Given the description of an element on the screen output the (x, y) to click on. 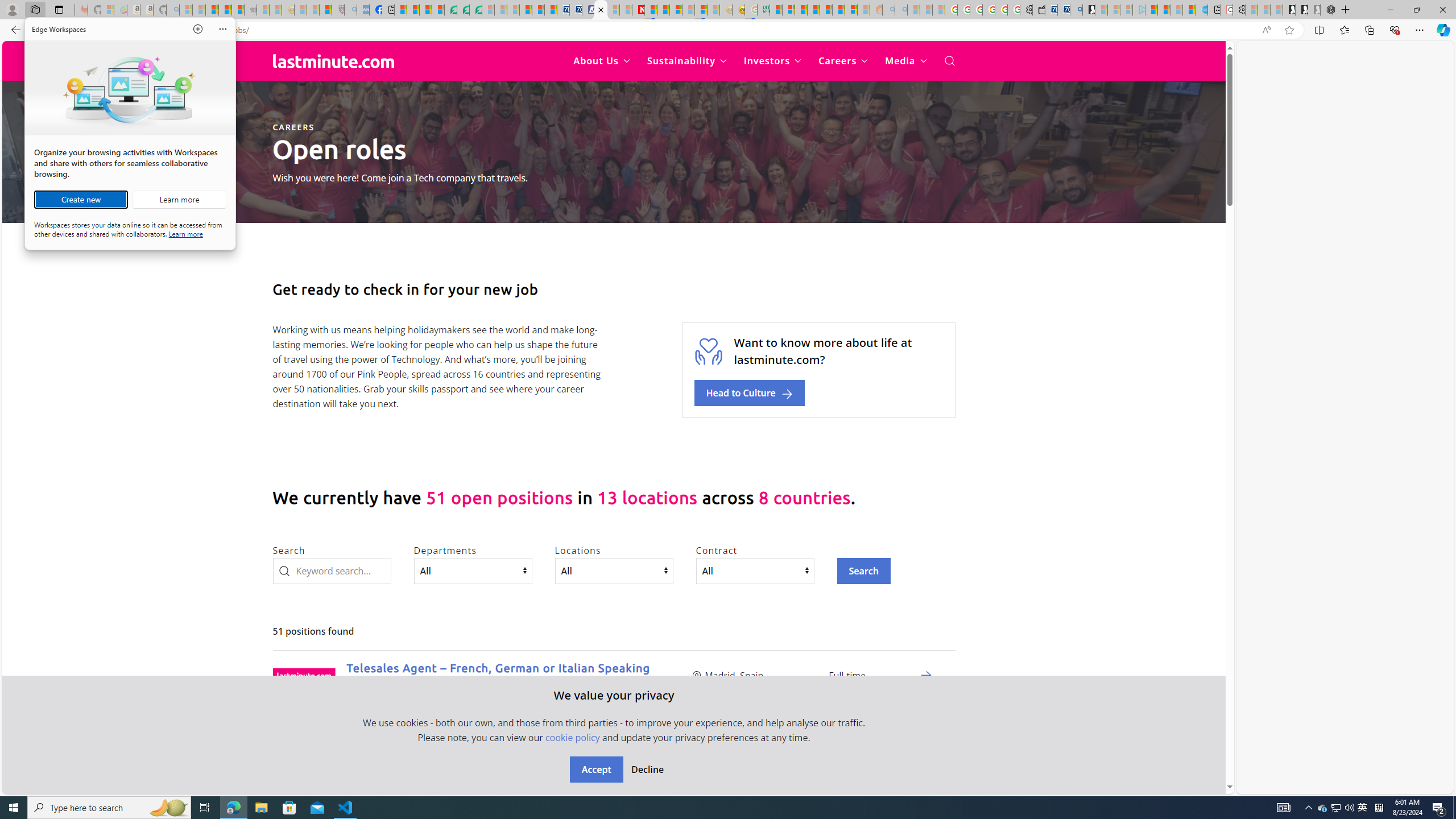
Latest Politics News & Archive | Newsweek.com (638, 9)
Local - MSN (325, 9)
Head to Culture (749, 393)
LendingTree - Compare Lenders (450, 9)
Contract (754, 570)
Learn more about Workspaces (178, 199)
